Given the description of an element on the screen output the (x, y) to click on. 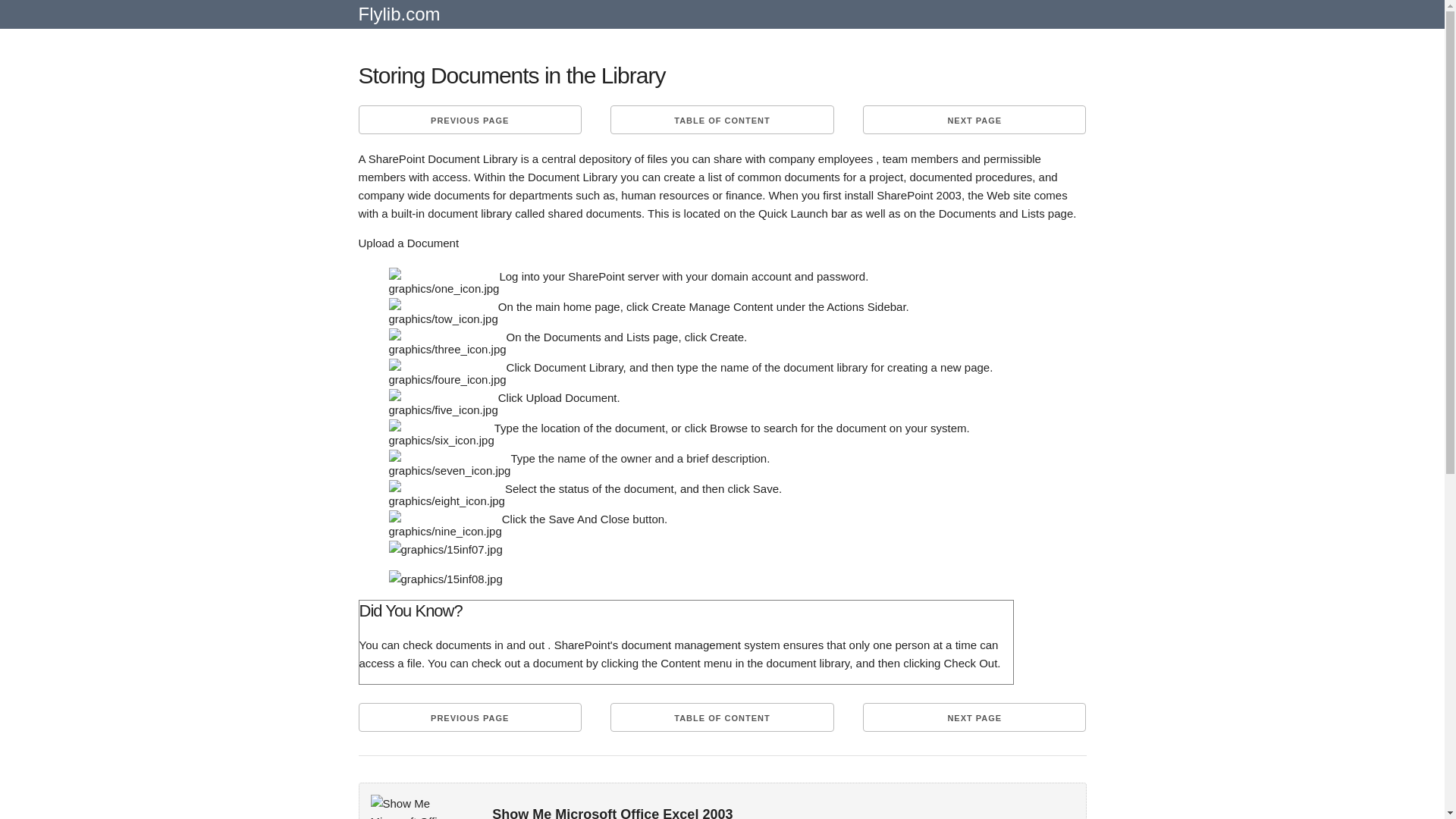
NEXT PAGE (974, 119)
Show Me Microsoft Office Excel 2003 (416, 806)
Flylib.com (398, 19)
PREVIOUS PAGE (469, 119)
TABLE OF CONTENT (721, 119)
PREVIOUS PAGE (469, 717)
TABLE OF CONTENT (721, 717)
NEXT PAGE (974, 717)
